Given the description of an element on the screen output the (x, y) to click on. 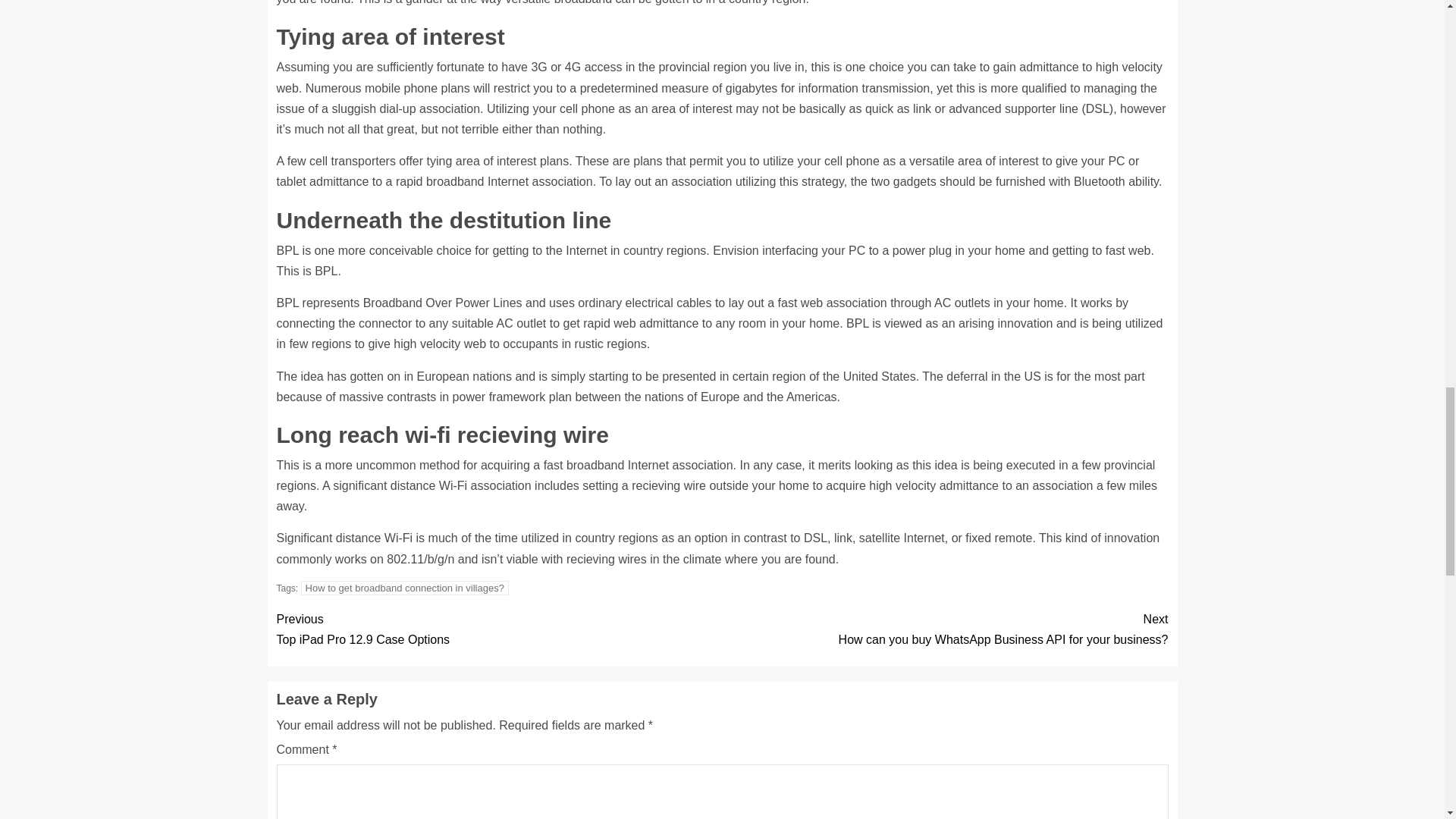
How to get broadband connection in villages? (499, 629)
